Given the description of an element on the screen output the (x, y) to click on. 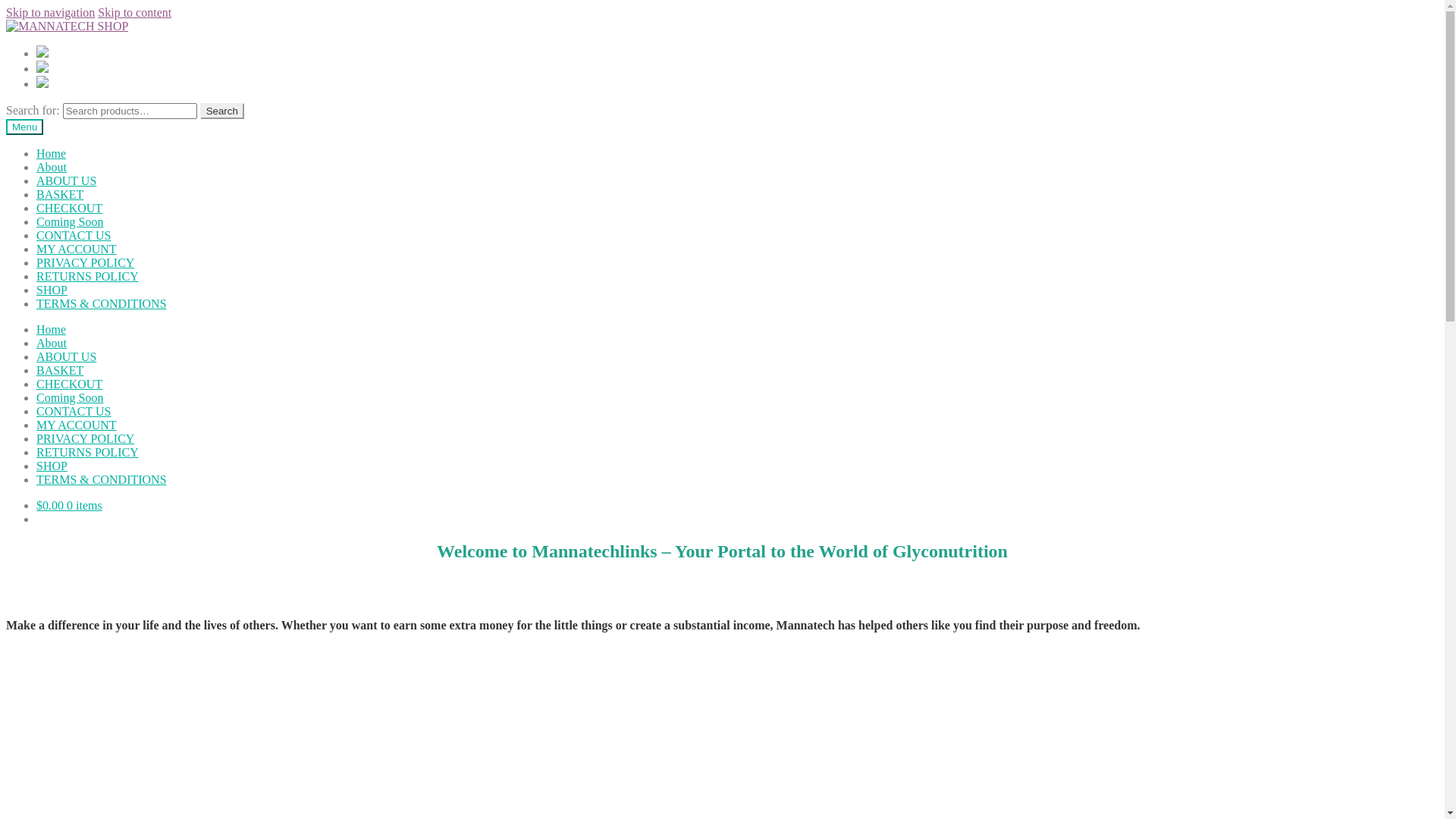
ABOUT US Element type: text (66, 356)
Search Element type: text (222, 111)
CHECKOUT Element type: text (69, 383)
$0.00 0 items Element type: text (69, 504)
SHOP Element type: text (51, 289)
Skip to content Element type: text (134, 12)
About Element type: text (51, 166)
TERMS & CONDITIONS Element type: text (101, 479)
Skip to navigation Element type: text (50, 12)
CONTACT US Element type: text (73, 235)
Instagram Element type: hover (42, 68)
Coming Soon Element type: text (69, 397)
Home Element type: text (50, 329)
Menu Element type: text (24, 126)
PRIVACY POLICY Element type: text (85, 262)
BASKET Element type: text (59, 370)
PRIVACY POLICY Element type: text (85, 438)
Coming Soon Element type: text (69, 221)
Youtube Element type: hover (42, 83)
MANNATECH SHOP Element type: hover (67, 26)
BASKET Element type: text (59, 194)
About Element type: text (51, 342)
Facebook Element type: hover (42, 53)
TERMS & CONDITIONS Element type: text (101, 303)
Home Element type: text (50, 153)
RETURNS POLICY Element type: text (87, 275)
CHECKOUT Element type: text (69, 207)
MY ACCOUNT Element type: text (76, 424)
SHOP Element type: text (51, 465)
ABOUT US Element type: text (66, 180)
CONTACT US Element type: text (73, 410)
RETURNS POLICY Element type: text (87, 451)
MY ACCOUNT Element type: text (76, 248)
